Given the description of an element on the screen output the (x, y) to click on. 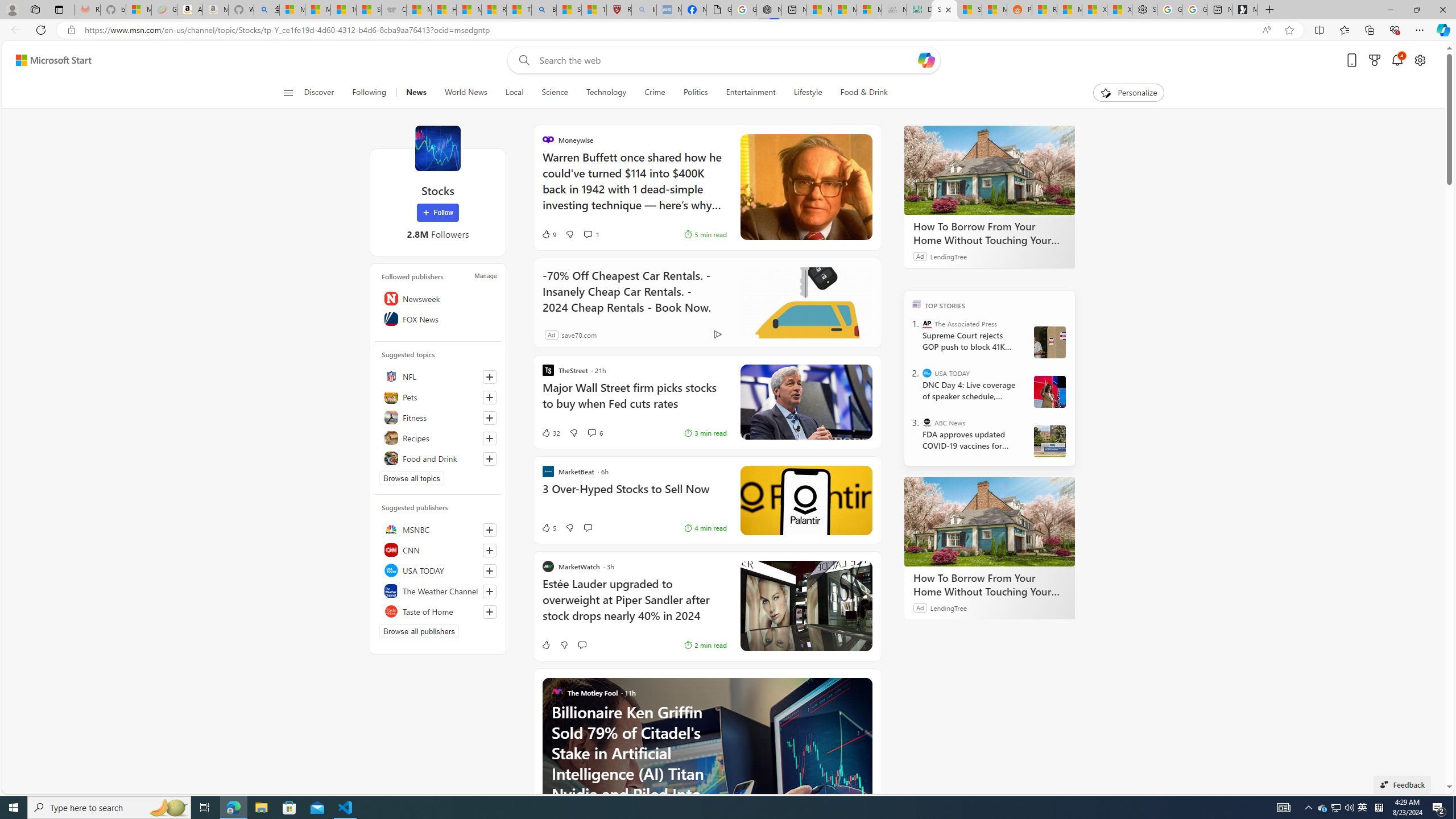
LendingTree (948, 607)
Microsoft account | Privacy (292, 9)
Ad (551, 334)
Follow this topic (489, 458)
Technology (606, 92)
Local (514, 92)
